Given the description of an element on the screen output the (x, y) to click on. 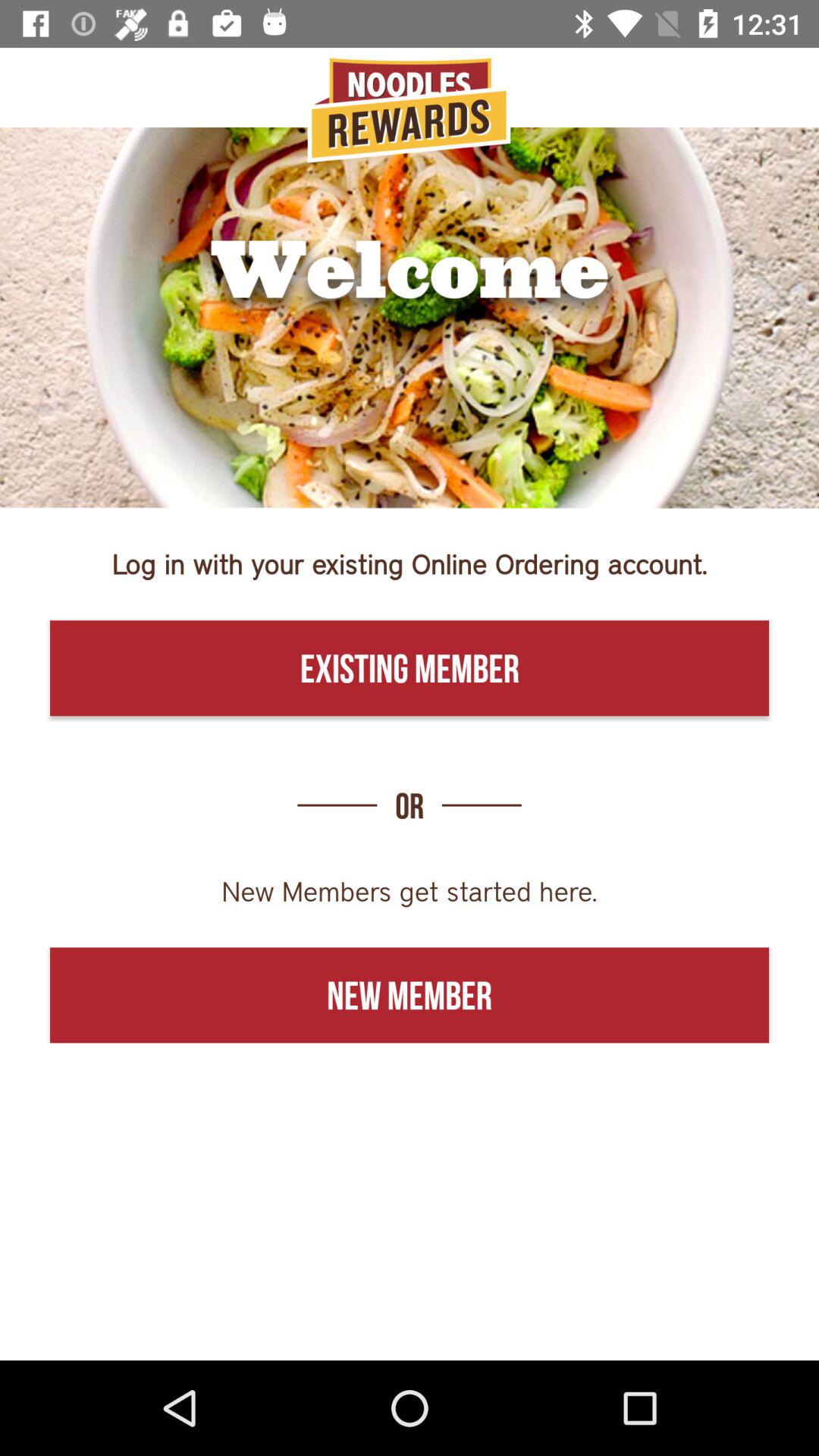
choose the icon below new members get icon (409, 995)
